Given the description of an element on the screen output the (x, y) to click on. 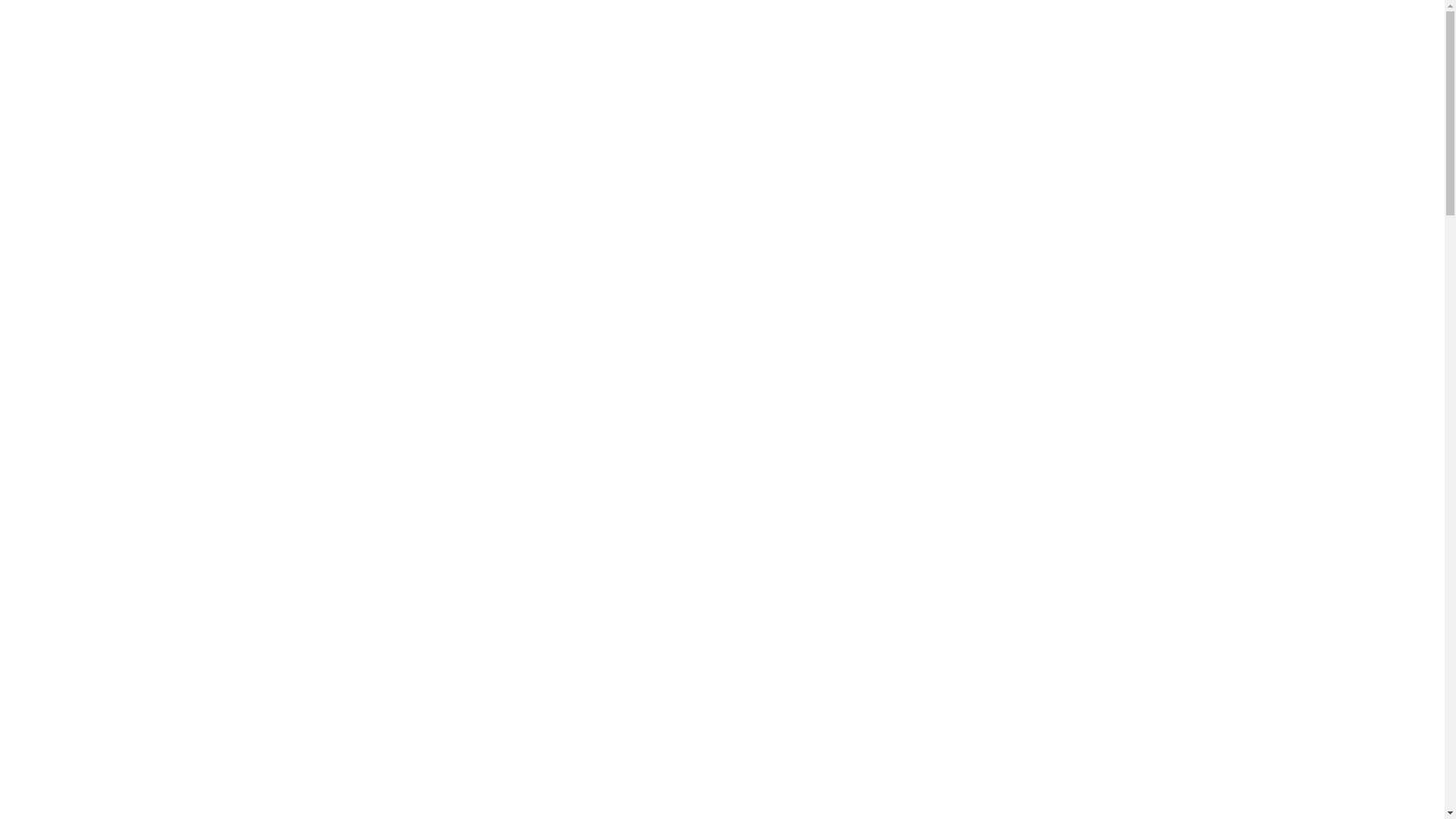
HOME Element type: text (1071, 29)
DONATE Element type: text (1315, 29)
CONTACT Element type: text (1371, 29)
GET SUPPORT Element type: text (1250, 29)
ABOUT Element type: text (1119, 29)
OUR WORK Element type: text (1178, 29)
The Rogue & Rouge Foundation Element type: text (236, 29)
